Given the description of an element on the screen output the (x, y) to click on. 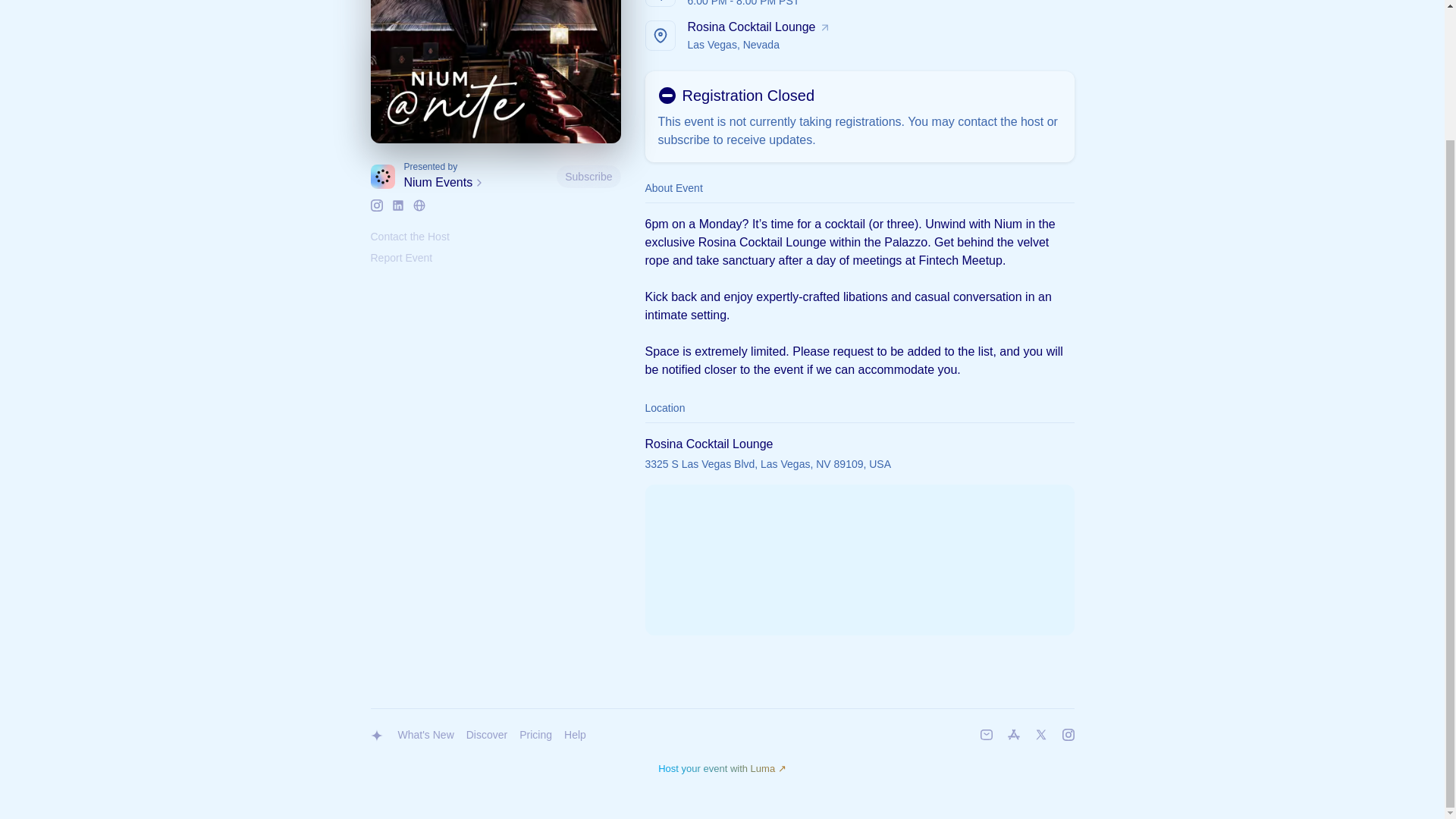
What's New (425, 735)
Report Event (400, 257)
Discover (486, 735)
Help (574, 735)
Nium Events (476, 182)
Pricing (535, 735)
Contact the Host (408, 235)
Subscribe (859, 35)
